Given the description of an element on the screen output the (x, y) to click on. 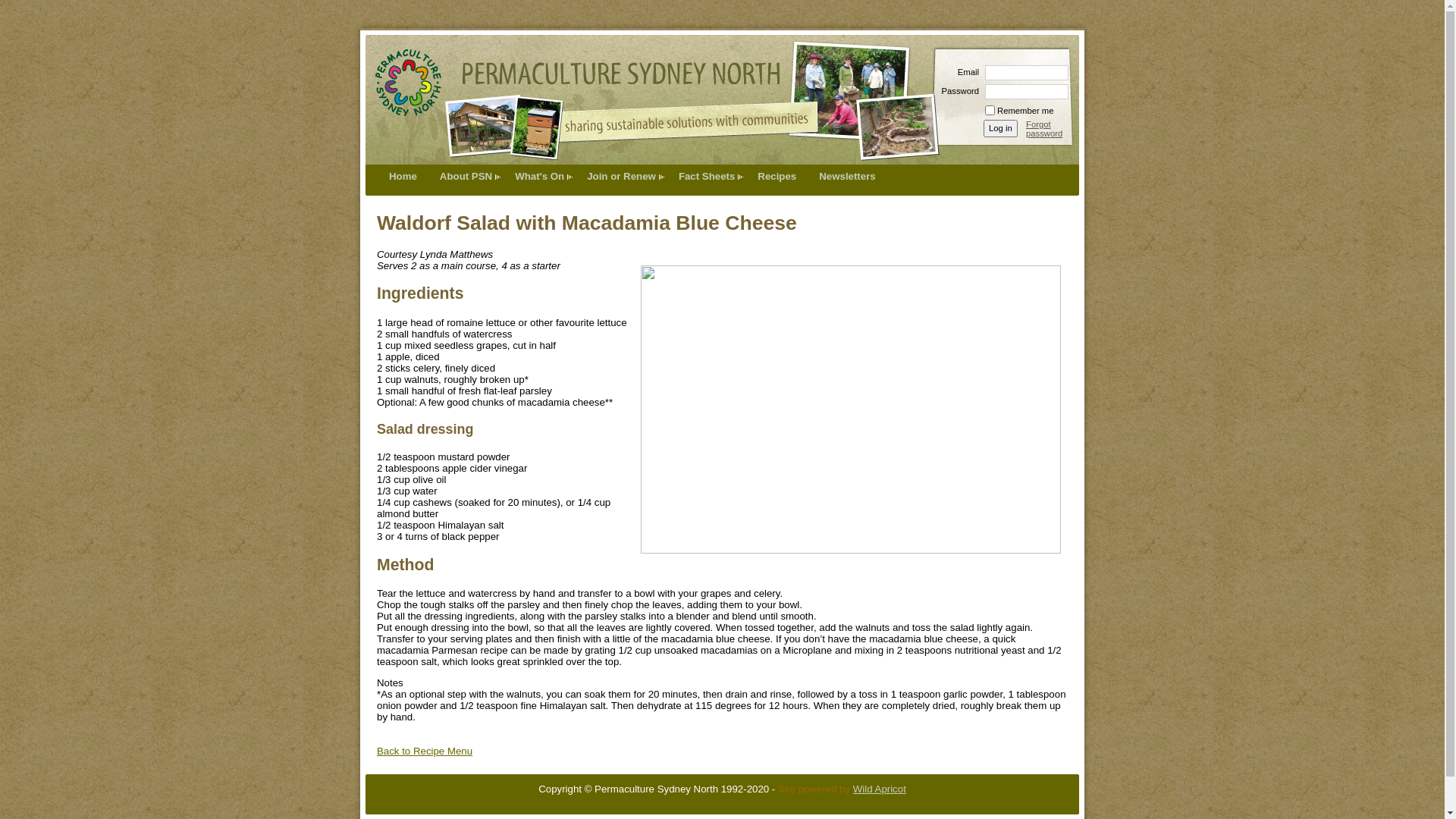
Join or Renew Element type: text (620, 176)
About PSN Element type: text (465, 176)
Wild Apricot Element type: text (879, 788)
Fact Sheets Element type: text (706, 176)
Newsletters Element type: text (847, 176)
Recipes Element type: text (776, 176)
What's On Element type: text (539, 176)
Log in Element type: text (1000, 128)
Forgot password Element type: text (1052, 128)
Home Element type: text (403, 176)
Back to Recipe Menu Element type: text (424, 750)
